Given the description of an element on the screen output the (x, y) to click on. 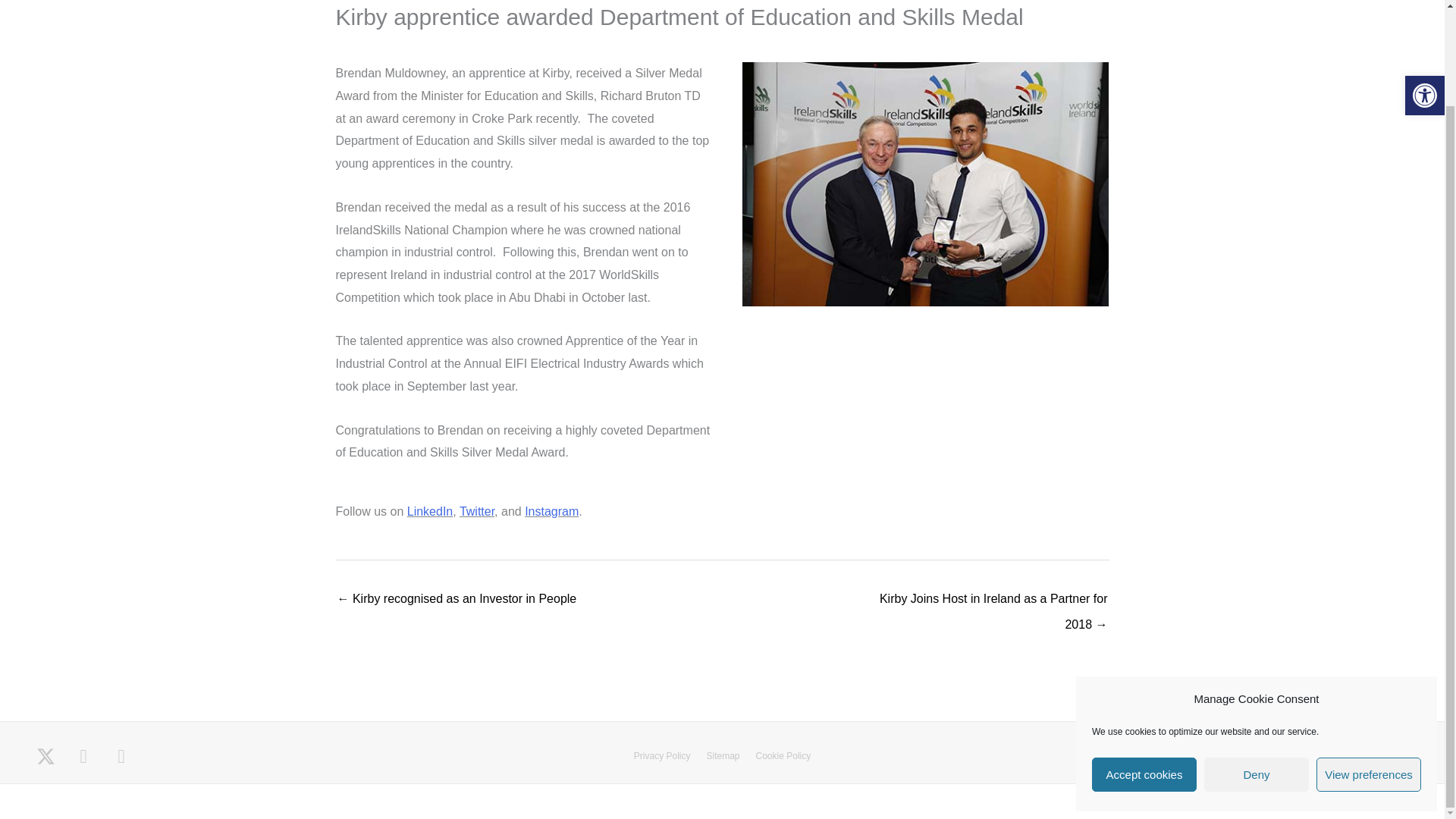
LinkedIn (83, 756)
View preferences (1368, 663)
LinkedIn (429, 511)
Website Design Galway (1341, 794)
Accept cookies (1144, 663)
Deny (1256, 663)
Instagram (551, 511)
YouTube (121, 756)
Twitter (477, 511)
